Given the description of an element on the screen output the (x, y) to click on. 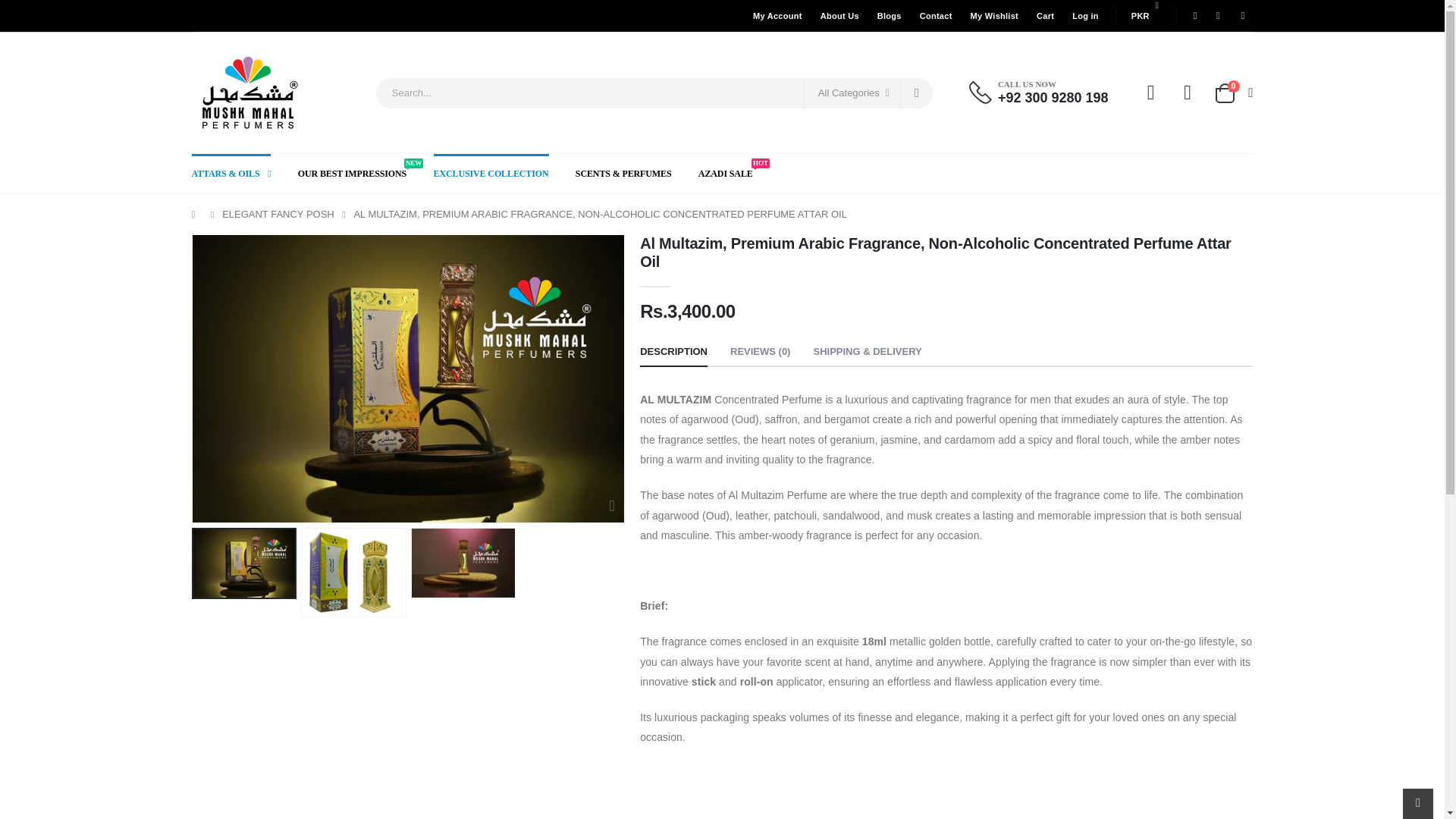
My Wishlist (994, 15)
0 (1232, 93)
All Categories (853, 91)
About Us (840, 15)
PKR (1144, 15)
Cart (1045, 15)
EXCLUSIVE COLLECTION (503, 173)
Search (917, 91)
Contact (936, 15)
My Account (777, 15)
